Given the description of an element on the screen output the (x, y) to click on. 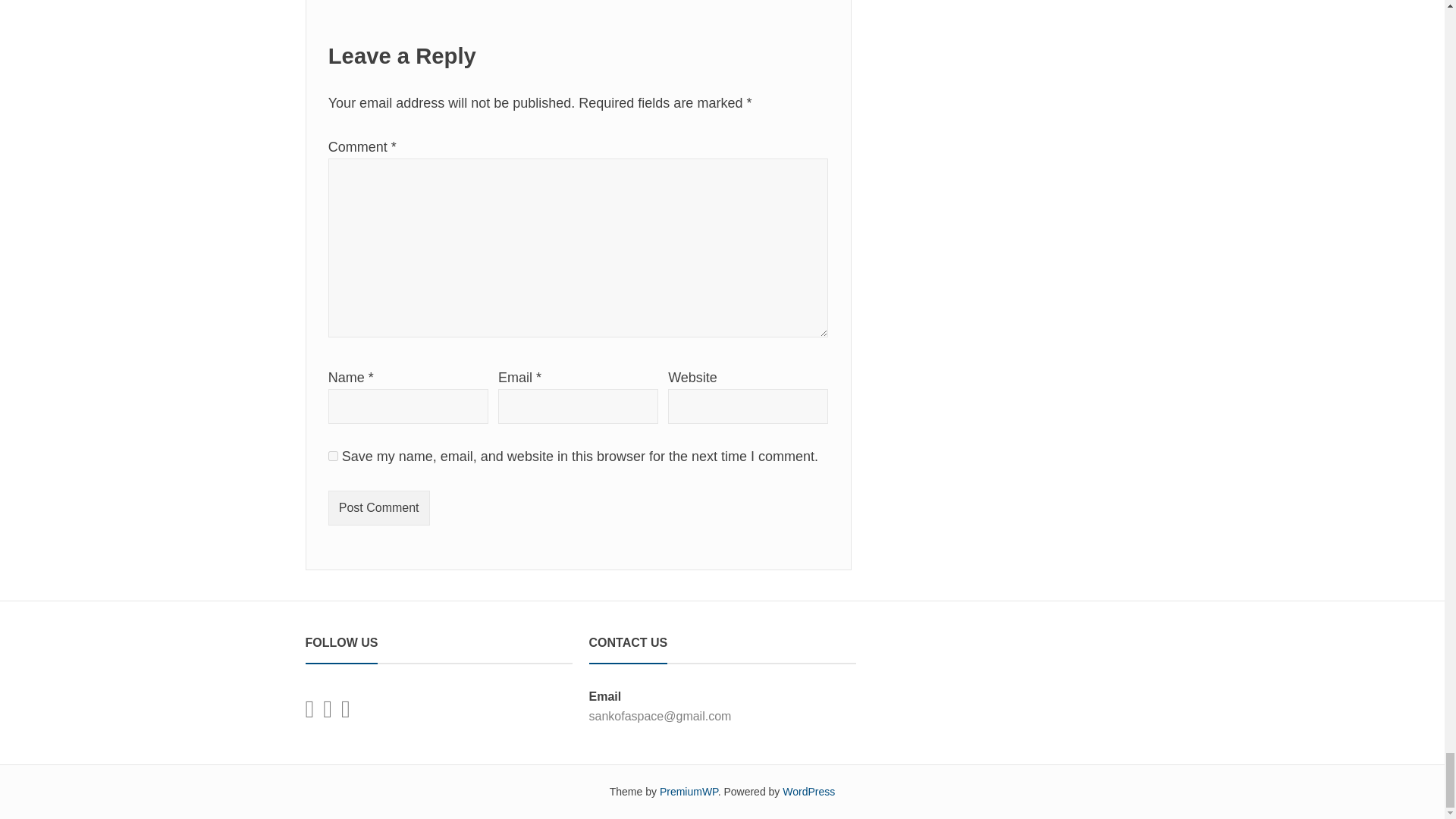
yes (333, 456)
PremiumWP (688, 791)
WordPress.org (808, 791)
Post Comment (379, 507)
Post Comment (379, 507)
